Given the description of an element on the screen output the (x, y) to click on. 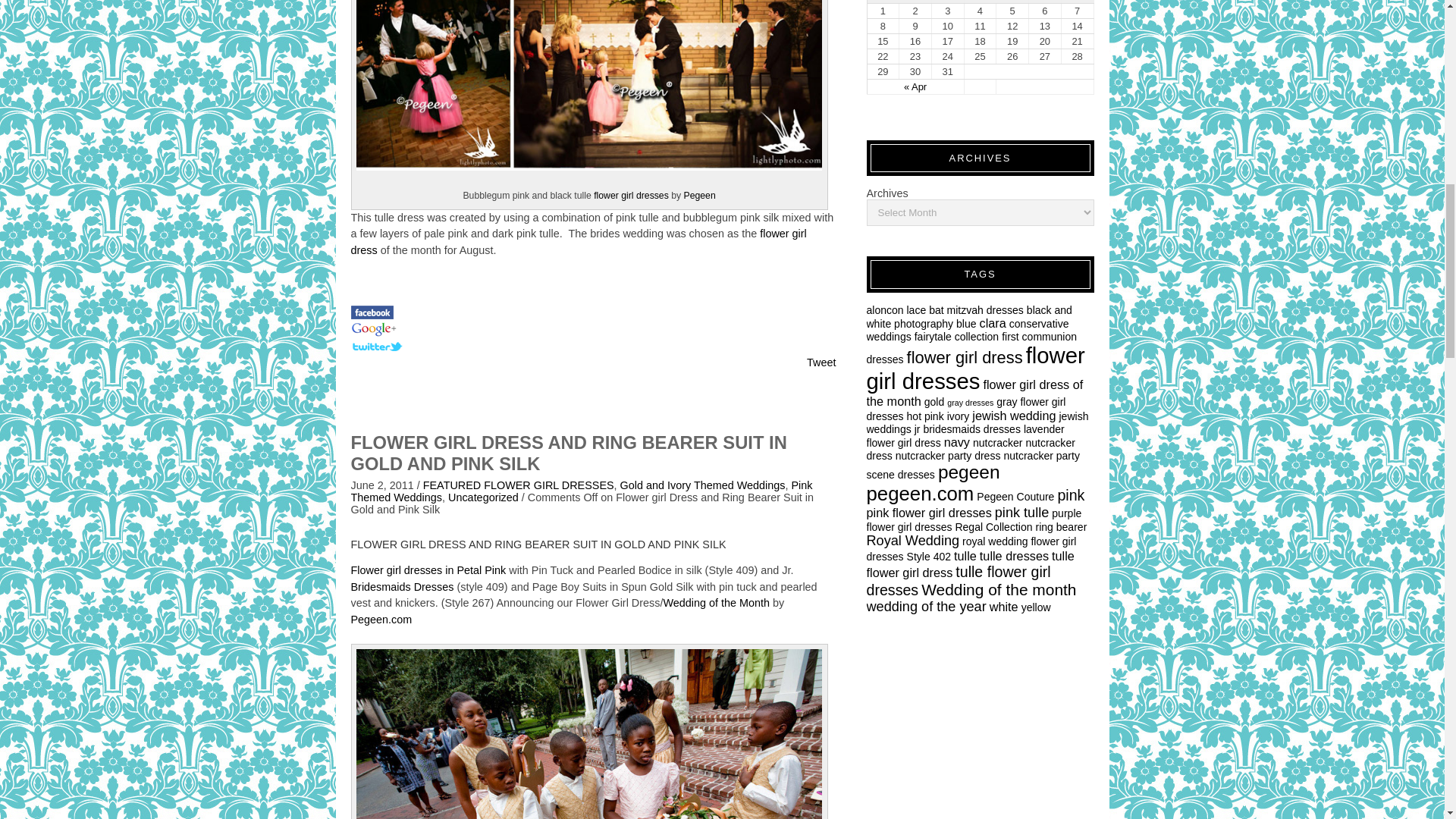
Flower Girl Dresses by Pegeen (381, 619)
Flower girl dresses of the month by Pegeen (578, 241)
Tweet (820, 362)
Flower girl dresses in Petal Pink (429, 570)
Pink and Gold flower girl dress of the month (717, 603)
Pegeen.com (381, 619)
Bubblegum pink and black tulle flower girl dresses by Pegeen (589, 85)
Uncategorized (483, 497)
Flower Girl Dresses by Pegeen (631, 195)
FEATURED FLOWER GIRL DRESSES (518, 485)
flower girl dresses (631, 195)
FLOWER GIRL DRESS AND RING BEARER SUIT IN GOLD AND PINK SILK (568, 453)
